Given the description of an element on the screen output the (x, y) to click on. 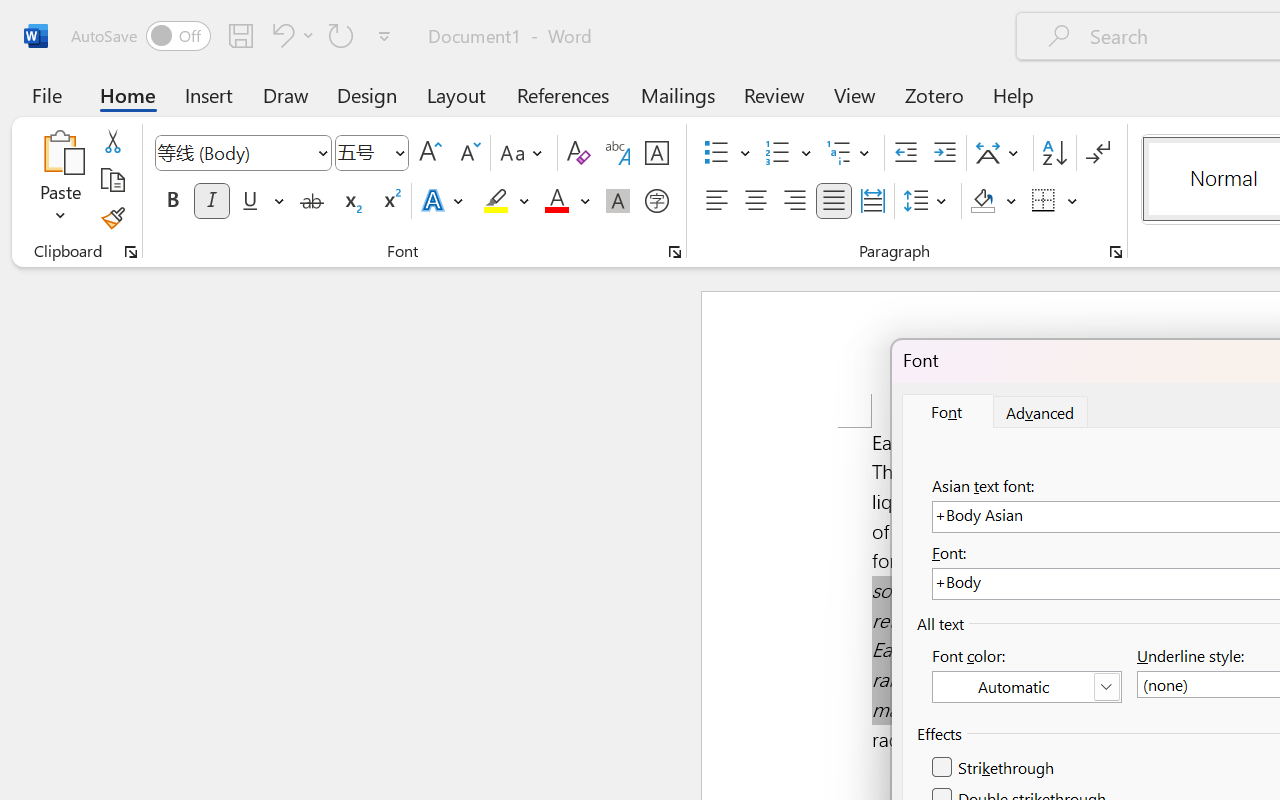
Cut (112, 141)
Font Color (Automatic) (1026, 687)
Enclose Characters... (656, 201)
Distributed (872, 201)
Subscript (350, 201)
Align Right (794, 201)
Phonetic Guide... (618, 153)
Decrease Indent (906, 153)
Strikethrough (312, 201)
